Given the description of an element on the screen output the (x, y) to click on. 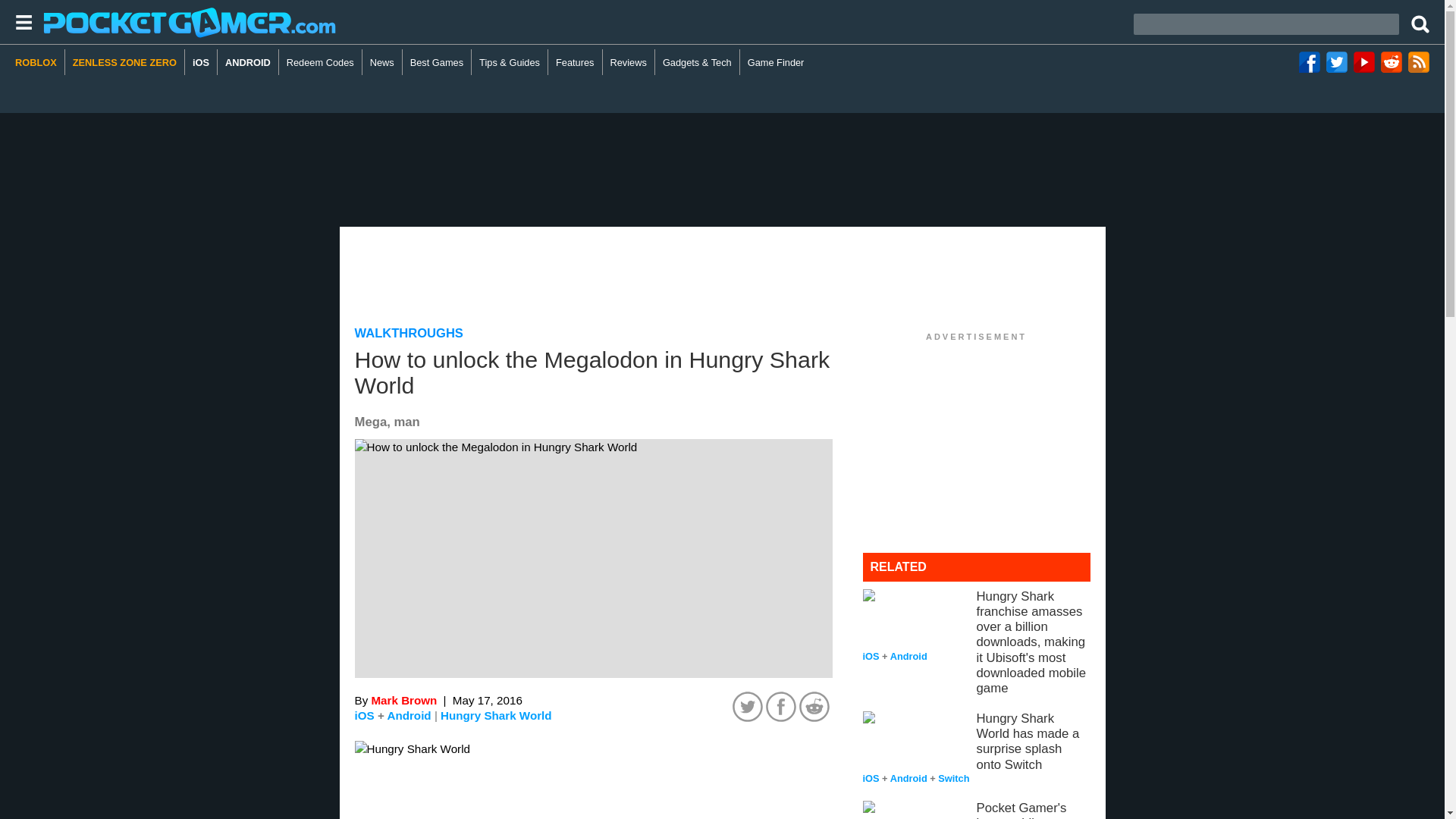
GO (1421, 22)
News (382, 62)
Hungry Shark World (496, 715)
Redeem Codes (320, 62)
Browse Pocket Gamer (18, 22)
iOS (364, 715)
ANDROID (247, 62)
ZENLESS ZONE ZERO (124, 62)
Game Finder (775, 62)
Best Games (437, 62)
Features (575, 62)
ROBLOX (39, 62)
iOS (200, 62)
GO (1421, 22)
WALKTHROUGHS (409, 332)
